Given the description of an element on the screen output the (x, y) to click on. 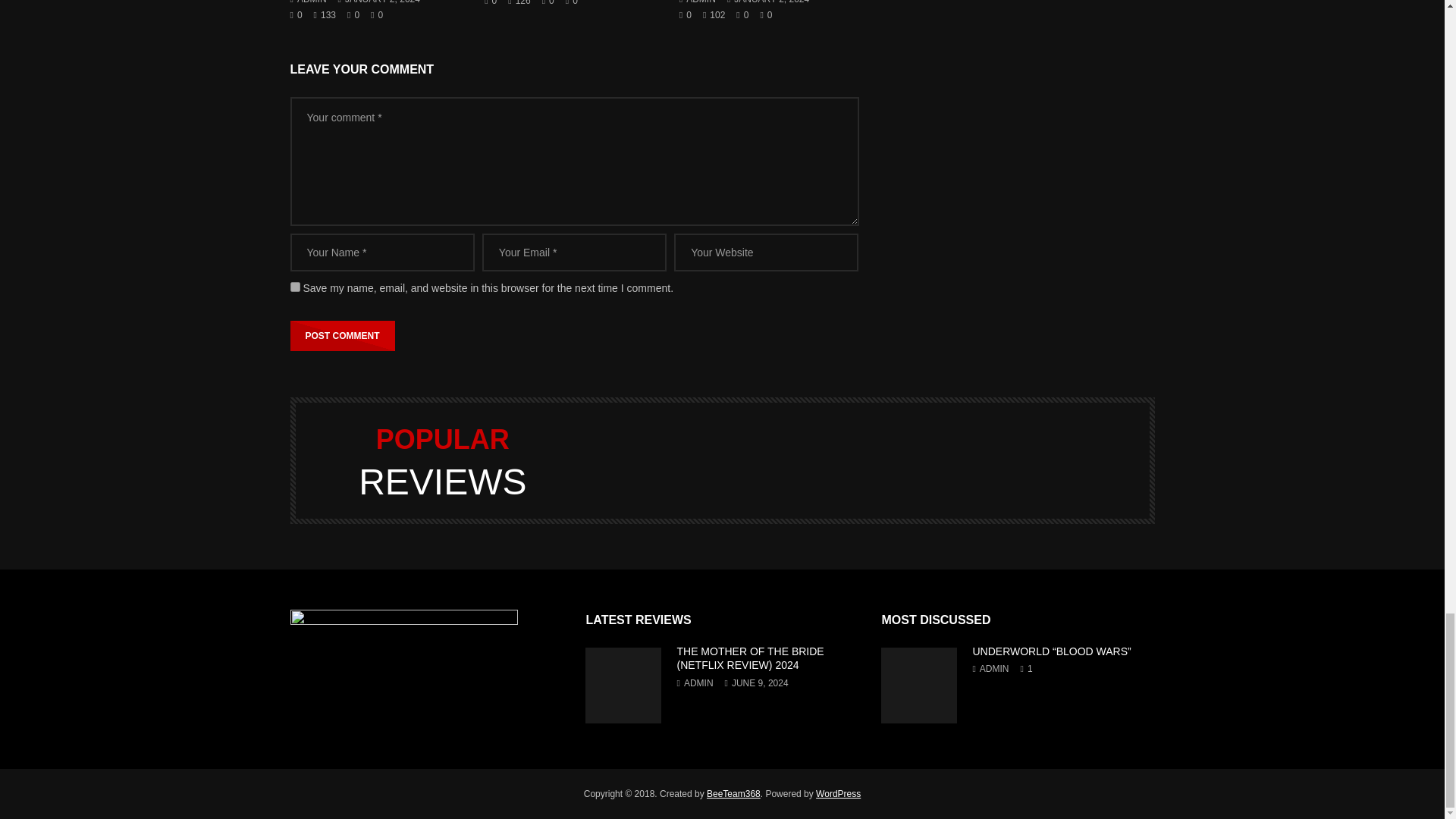
yes (294, 286)
Post comment (341, 336)
